Given the description of an element on the screen output the (x, y) to click on. 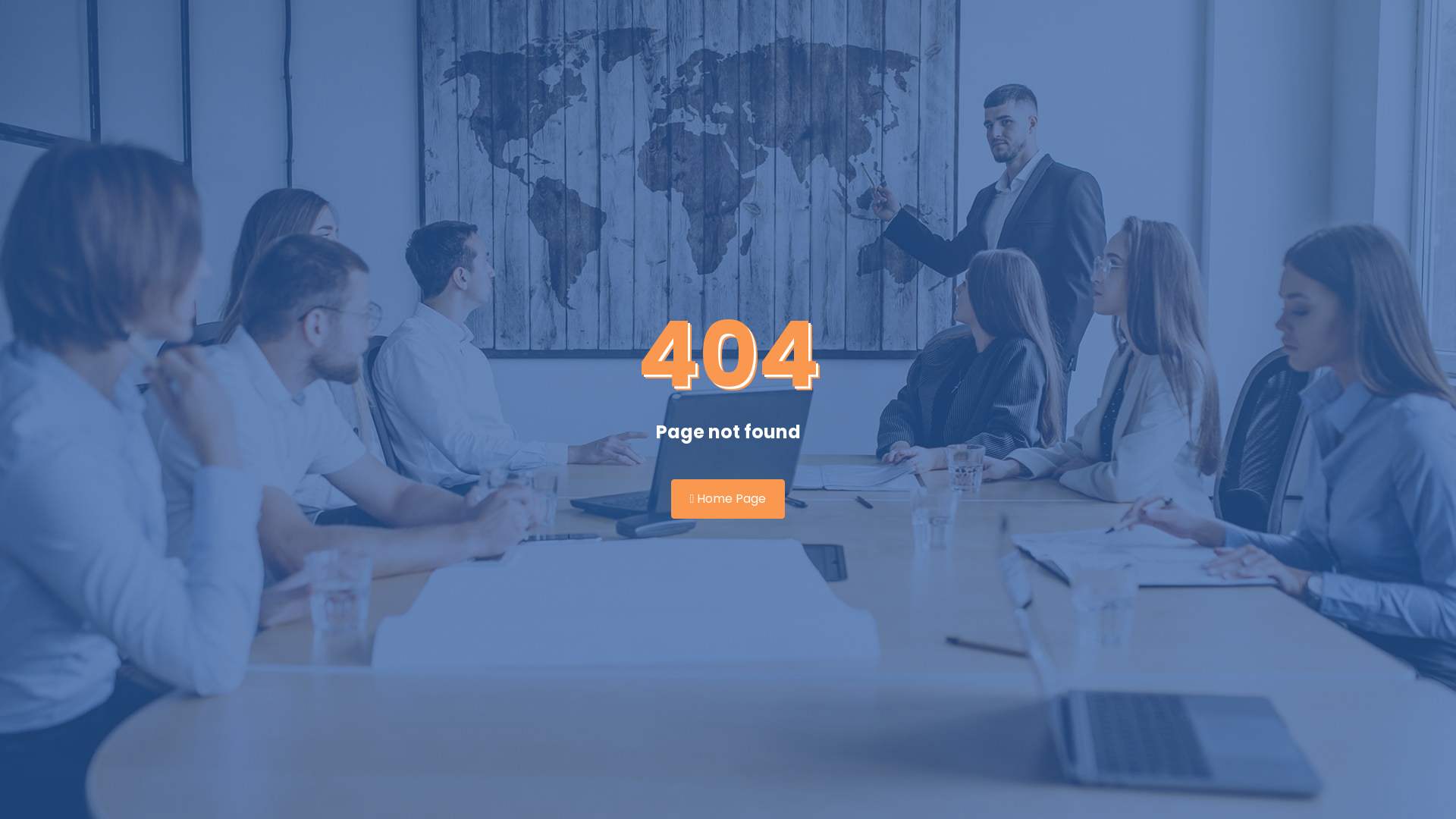
Home Page Element type: text (728, 498)
